Given the description of an element on the screen output the (x, y) to click on. 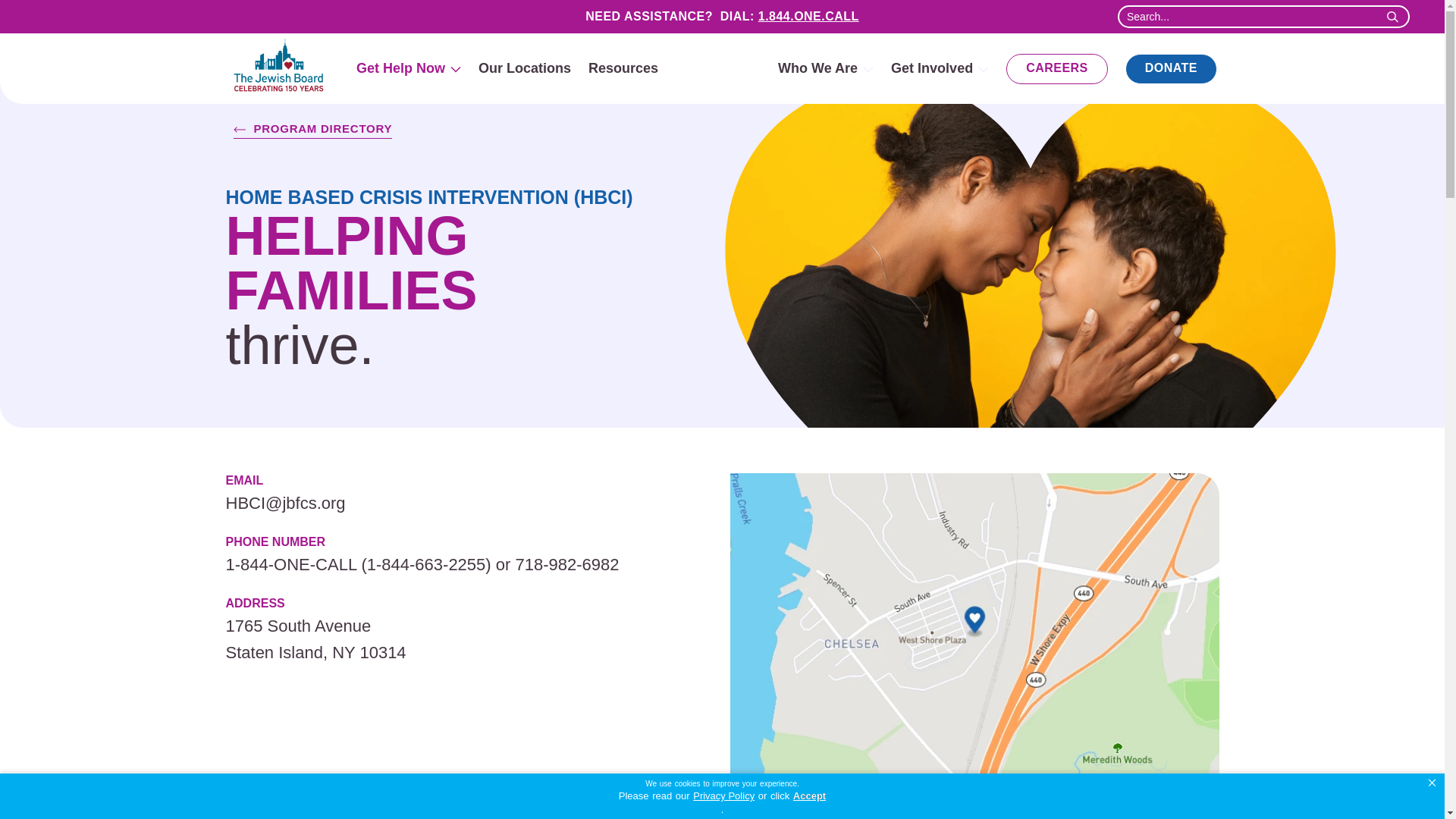
Who We Are (825, 67)
DONATE (1170, 67)
Get Help Now (408, 67)
Privacy Policy (723, 795)
Accept (809, 795)
CAREERS (1056, 67)
Our Locations (524, 67)
1.844.ONE.CALL (808, 15)
Get Involved (939, 67)
Resources (623, 67)
